Given the description of an element on the screen output the (x, y) to click on. 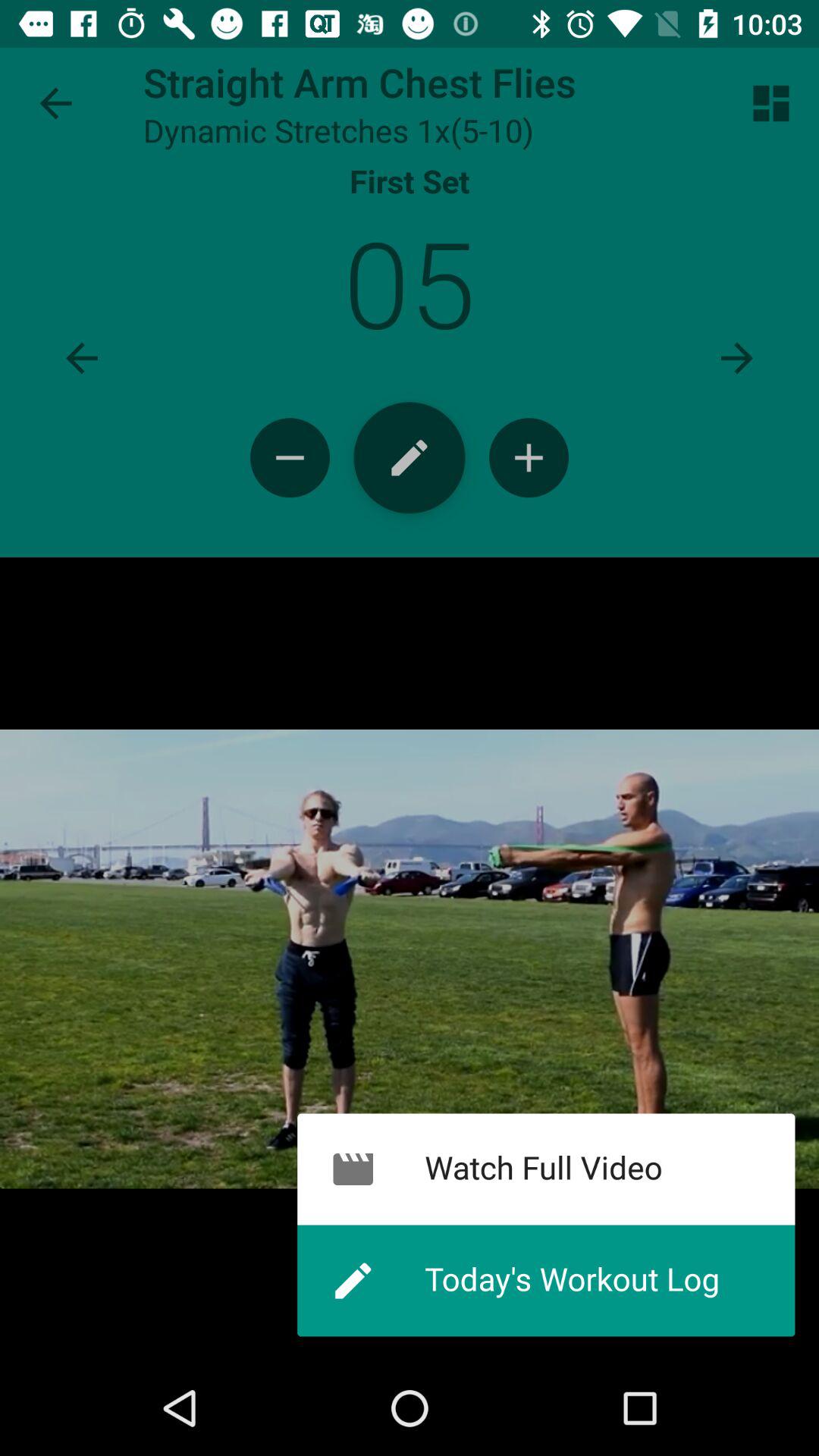
change number of sets (289, 457)
